Given the description of an element on the screen output the (x, y) to click on. 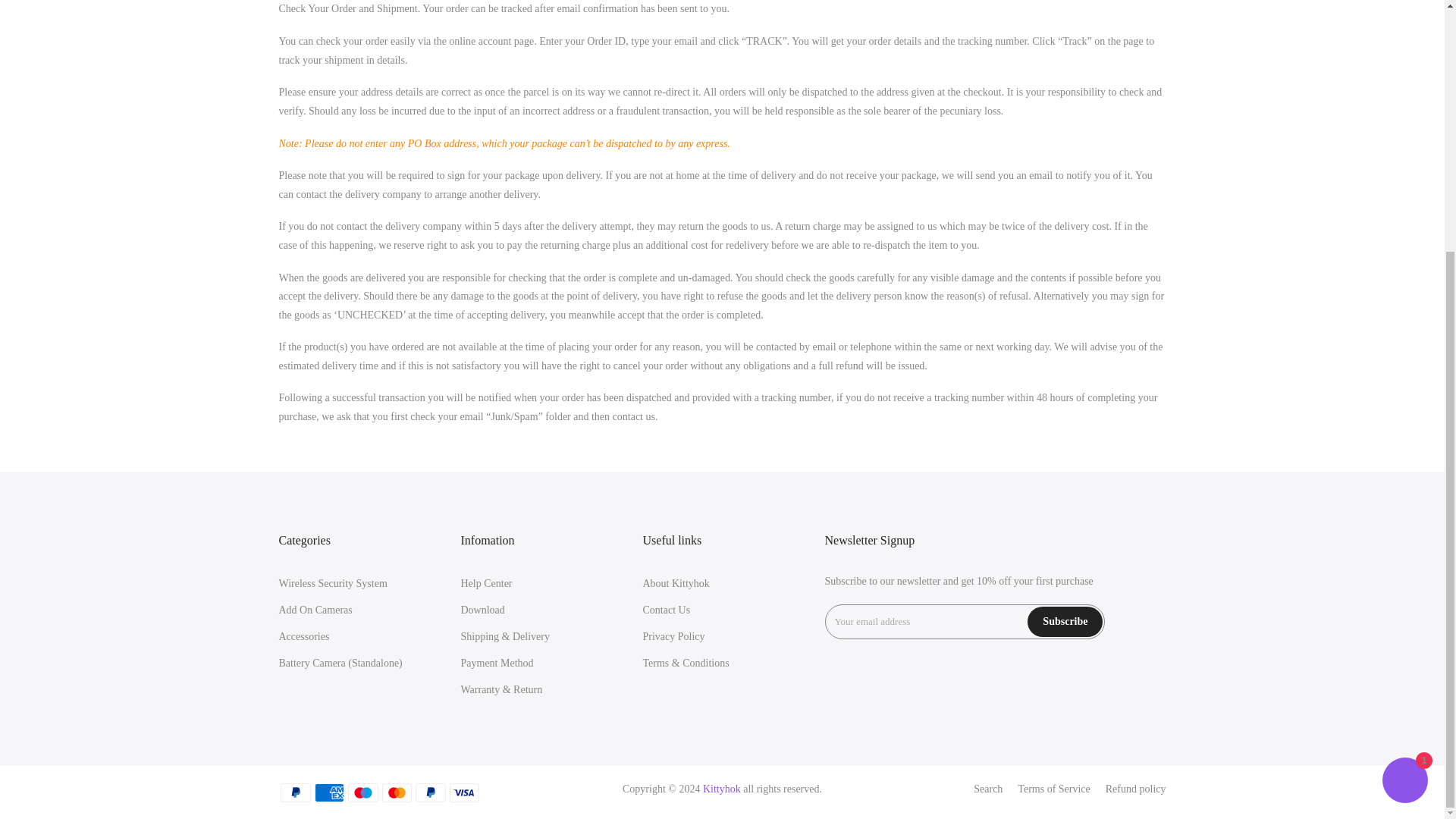
Wireless Security System (333, 583)
Search (988, 788)
Add On Cameras (315, 609)
Terms of Service (1053, 788)
Privacy Policy (673, 636)
Download (483, 609)
Contact Us (666, 609)
Shopify online store chat (1404, 427)
About Kittyhok (676, 583)
Help Center (486, 583)
Payment Method (497, 663)
Accessories (304, 636)
Subscribe (1064, 621)
